Given the description of an element on the screen output the (x, y) to click on. 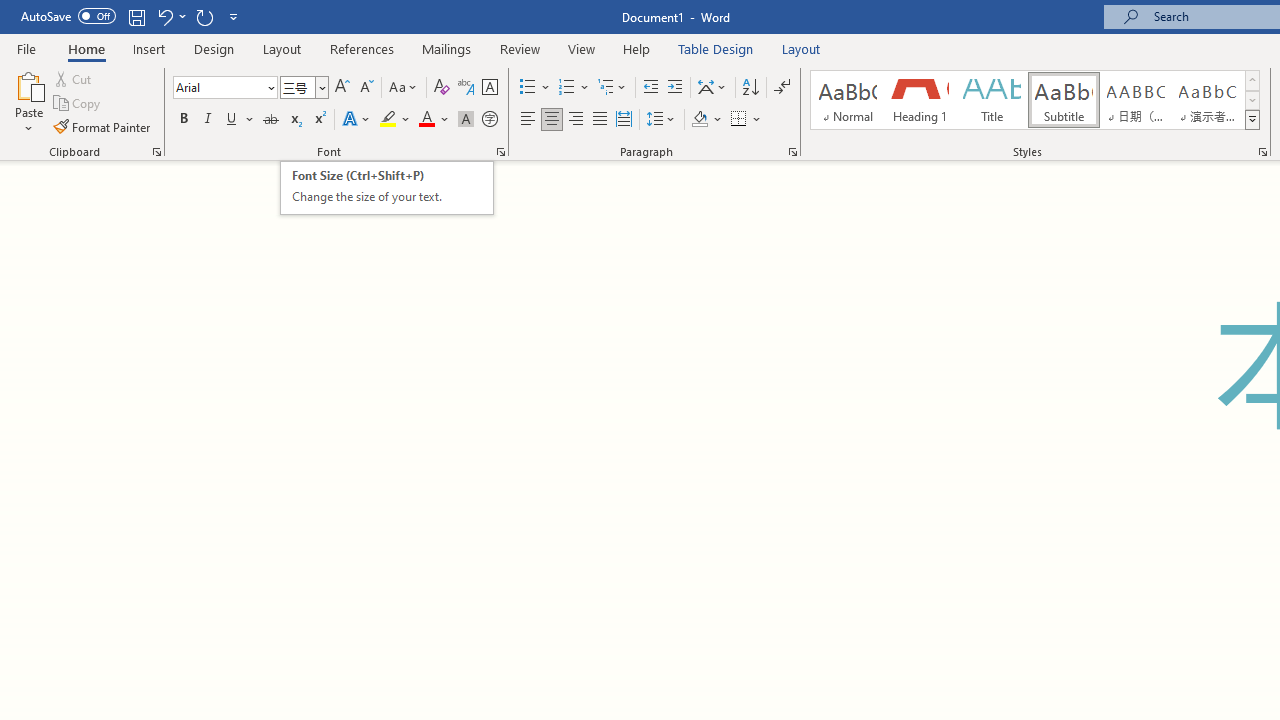
Heading 1 (920, 100)
Repeat Doc Close (204, 15)
Font Color Red (426, 119)
